Given the description of an element on the screen output the (x, y) to click on. 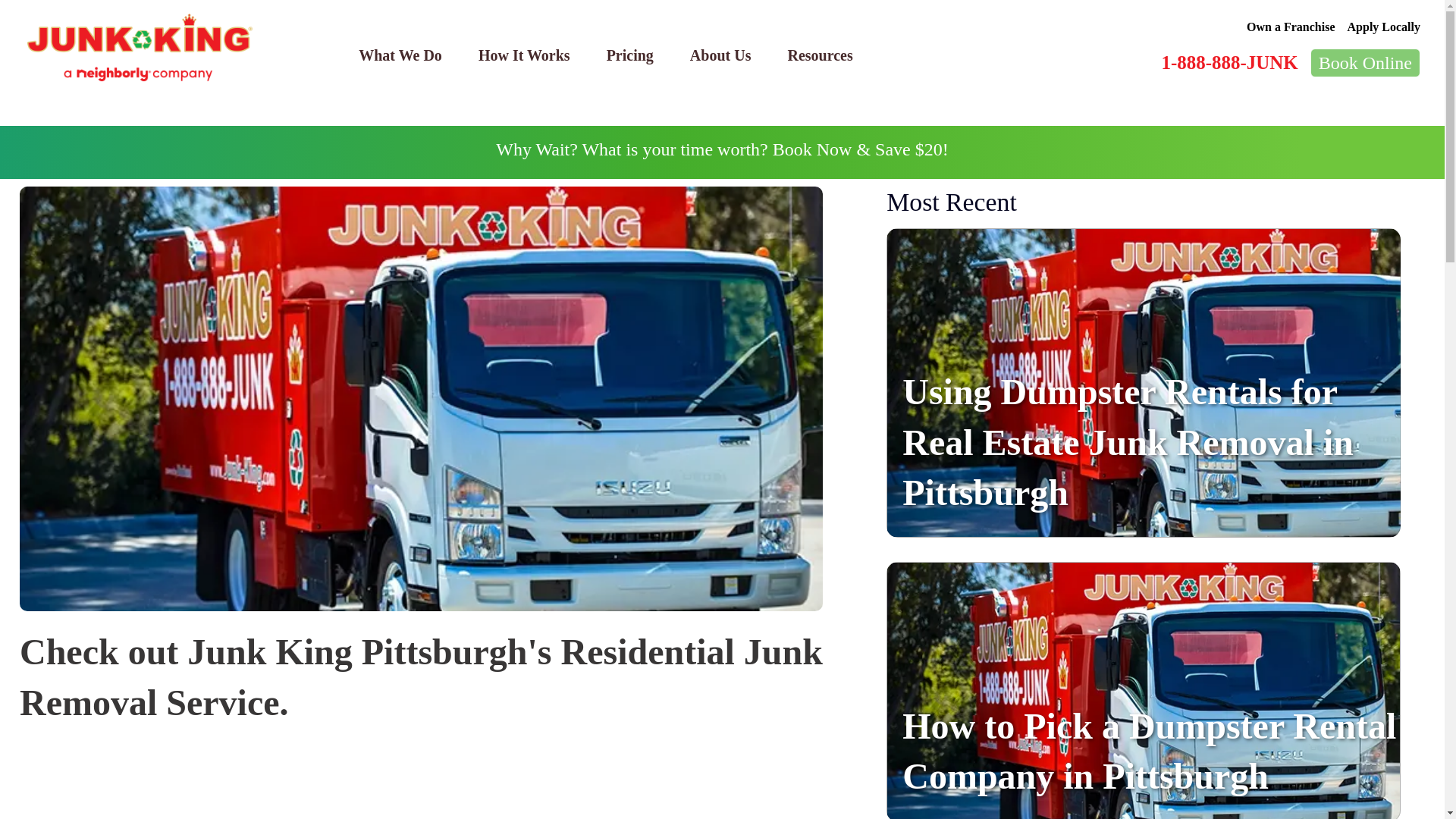
How to Pick a Dumpster Rental Company in Pittsburgh (1149, 750)
Pricing (629, 54)
About Us (720, 54)
Resources (819, 54)
Junk King (139, 47)
Banner Pane (721, 152)
Book Online (1365, 62)
What We Do (400, 54)
Own a Franchise (1290, 27)
How It Works (524, 54)
1-888-888-JUNK (1228, 62)
Apply Locally (1384, 27)
